Given the description of an element on the screen output the (x, y) to click on. 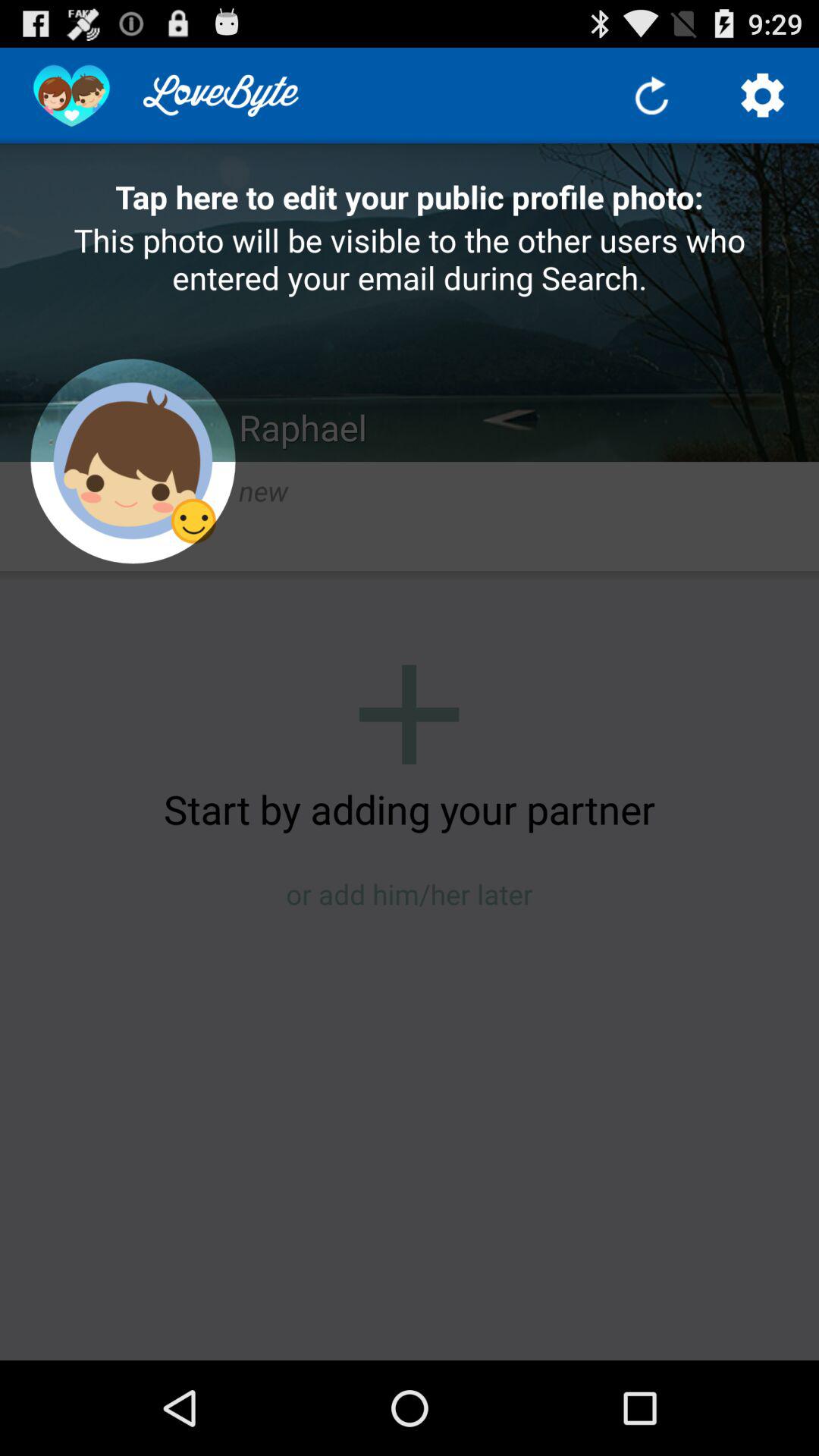
refresh page (651, 95)
